Given the description of an element on the screen output the (x, y) to click on. 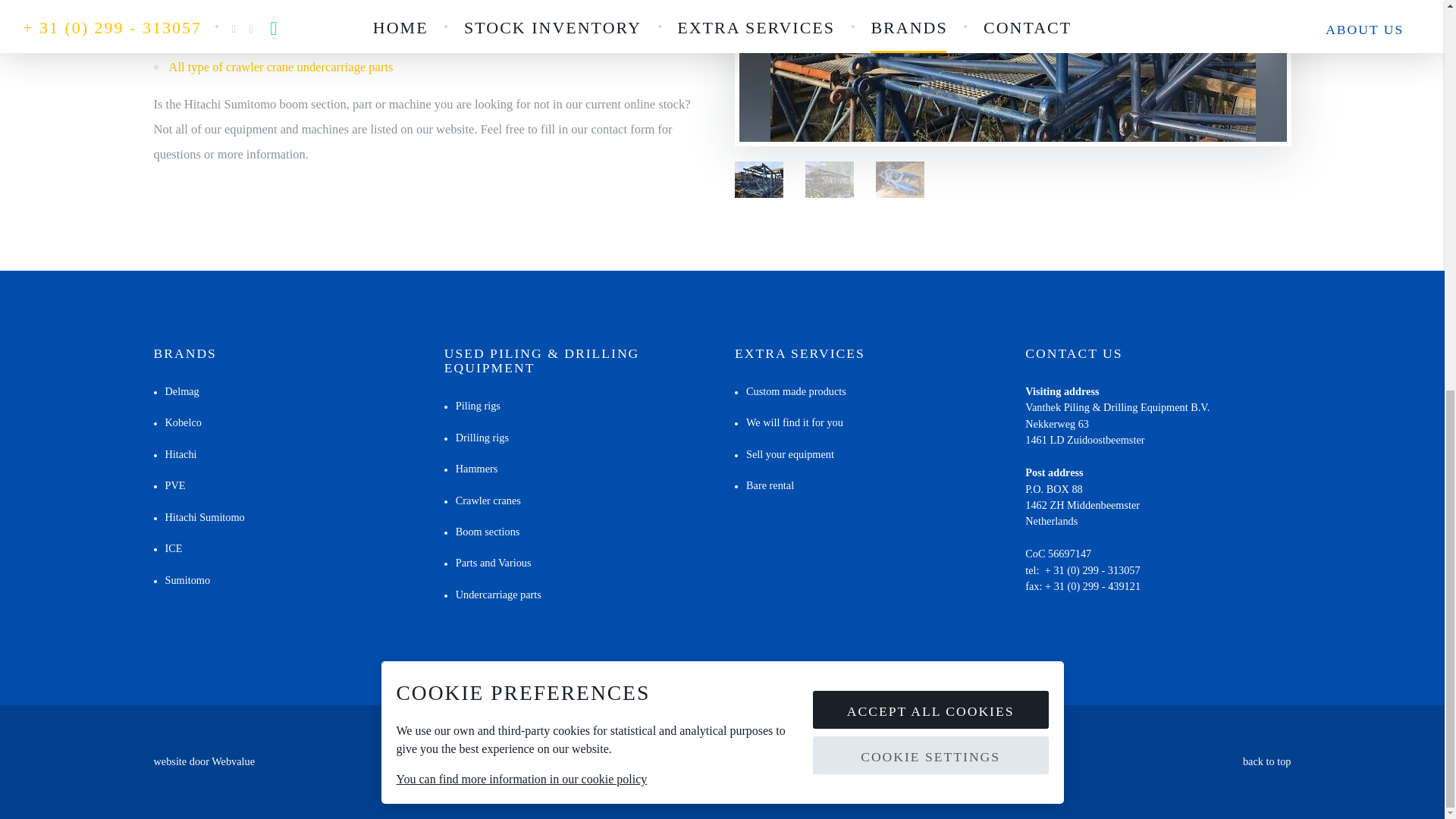
BRANDS (183, 353)
Hitachi Sumitomo SCX800 runner head (268, 42)
Hitachi (174, 453)
back to top (1267, 761)
All type of crawler crane undercarriage parts (280, 66)
Delmag (175, 390)
Kobelco (176, 422)
Hitachi Sumitomo (198, 517)
ICE (167, 548)
PVE (168, 485)
